Given the description of an element on the screen output the (x, y) to click on. 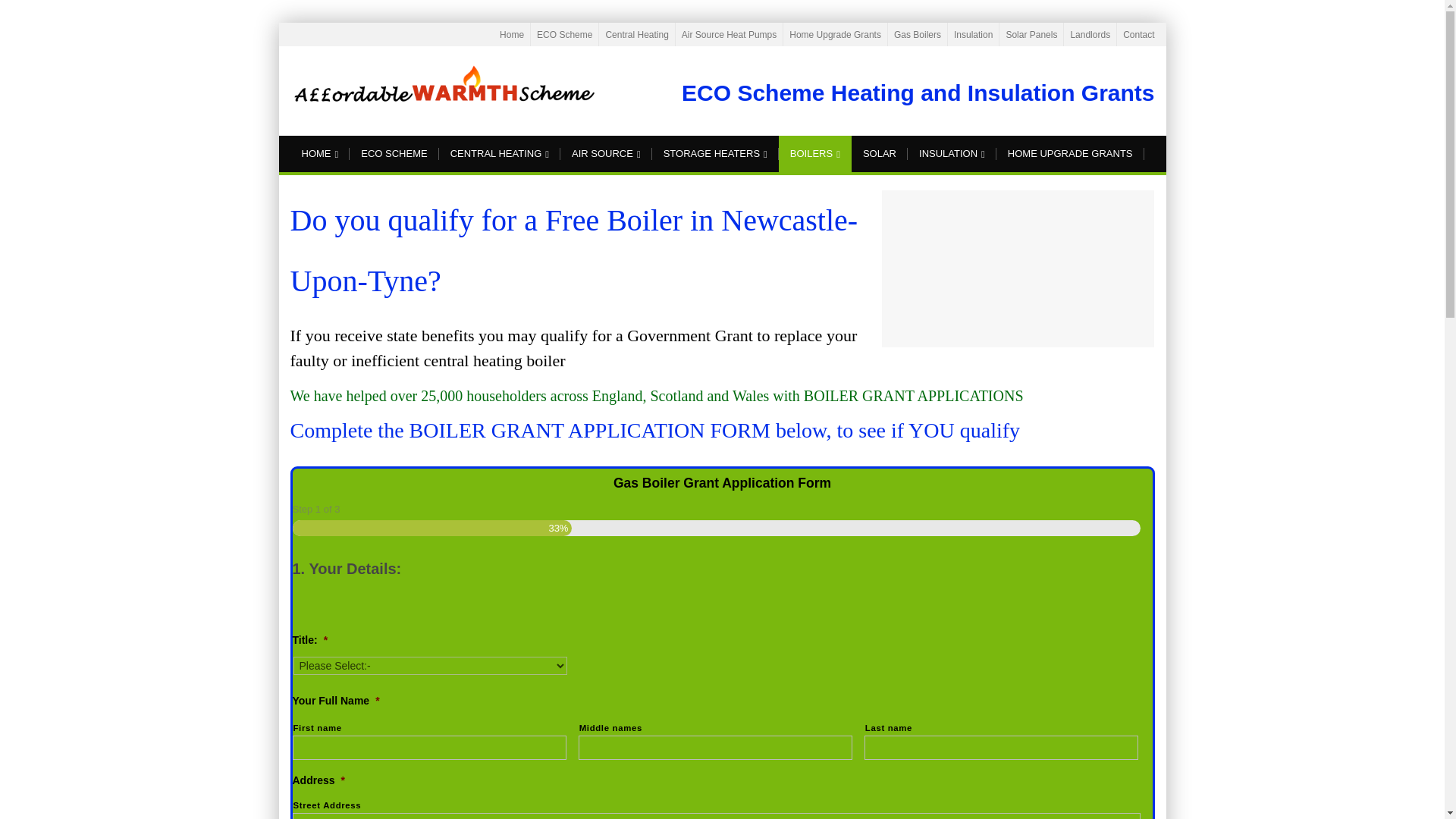
Home (511, 34)
Affordable Warmth Scheme (442, 86)
Home Upgrade Grants (834, 34)
Solar Panels (1031, 34)
Gas Boilers (916, 34)
Central Heating (636, 34)
Landlords (1089, 34)
ECO Scheme (564, 34)
Contact (1138, 34)
Air Source Heat Pumps (728, 34)
